Given the description of an element on the screen output the (x, y) to click on. 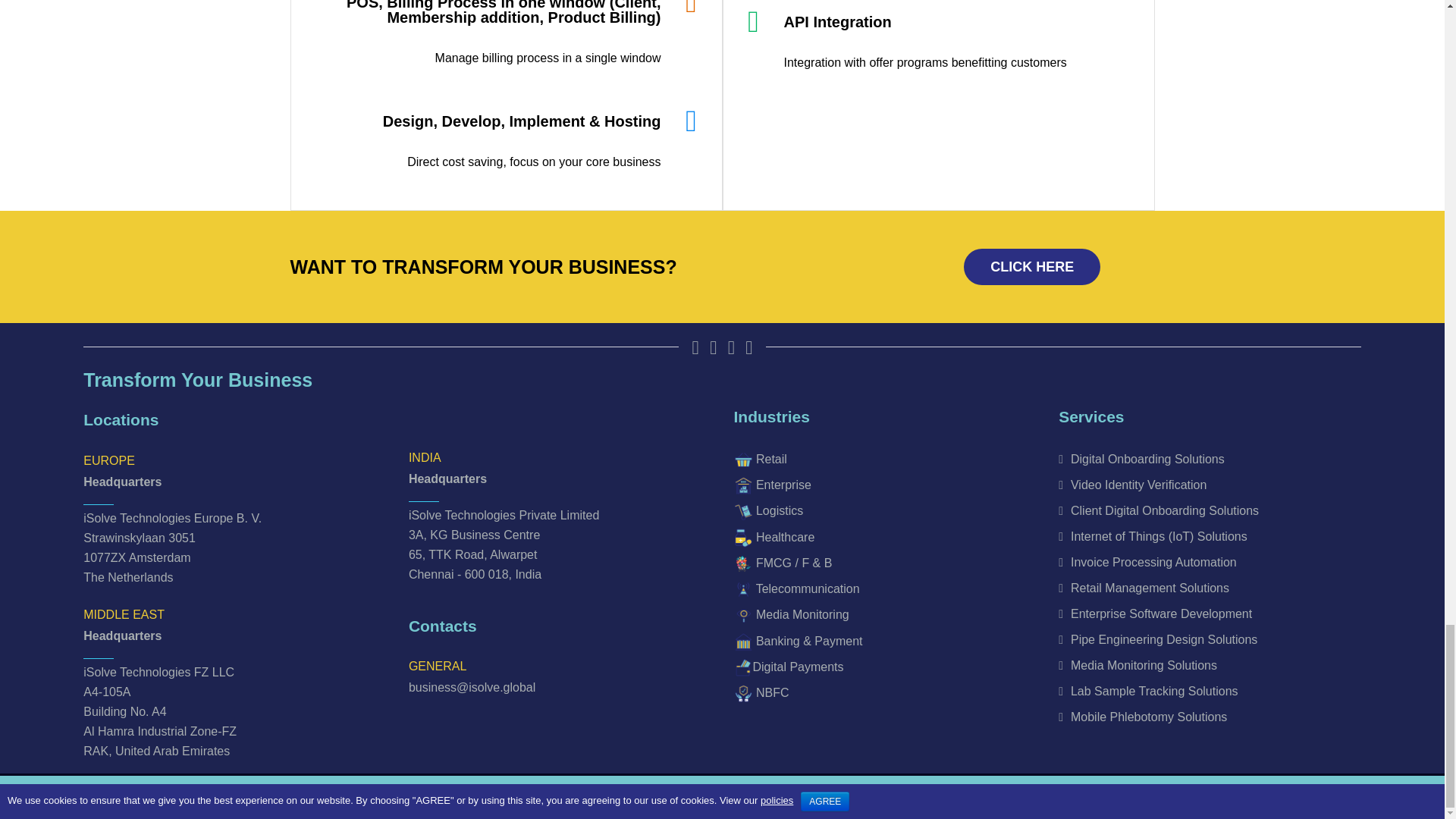
CLICK HERE (1031, 266)
WANT TO TRANSFORM YOUR BUSINESS? (483, 266)
